Given the description of an element on the screen output the (x, y) to click on. 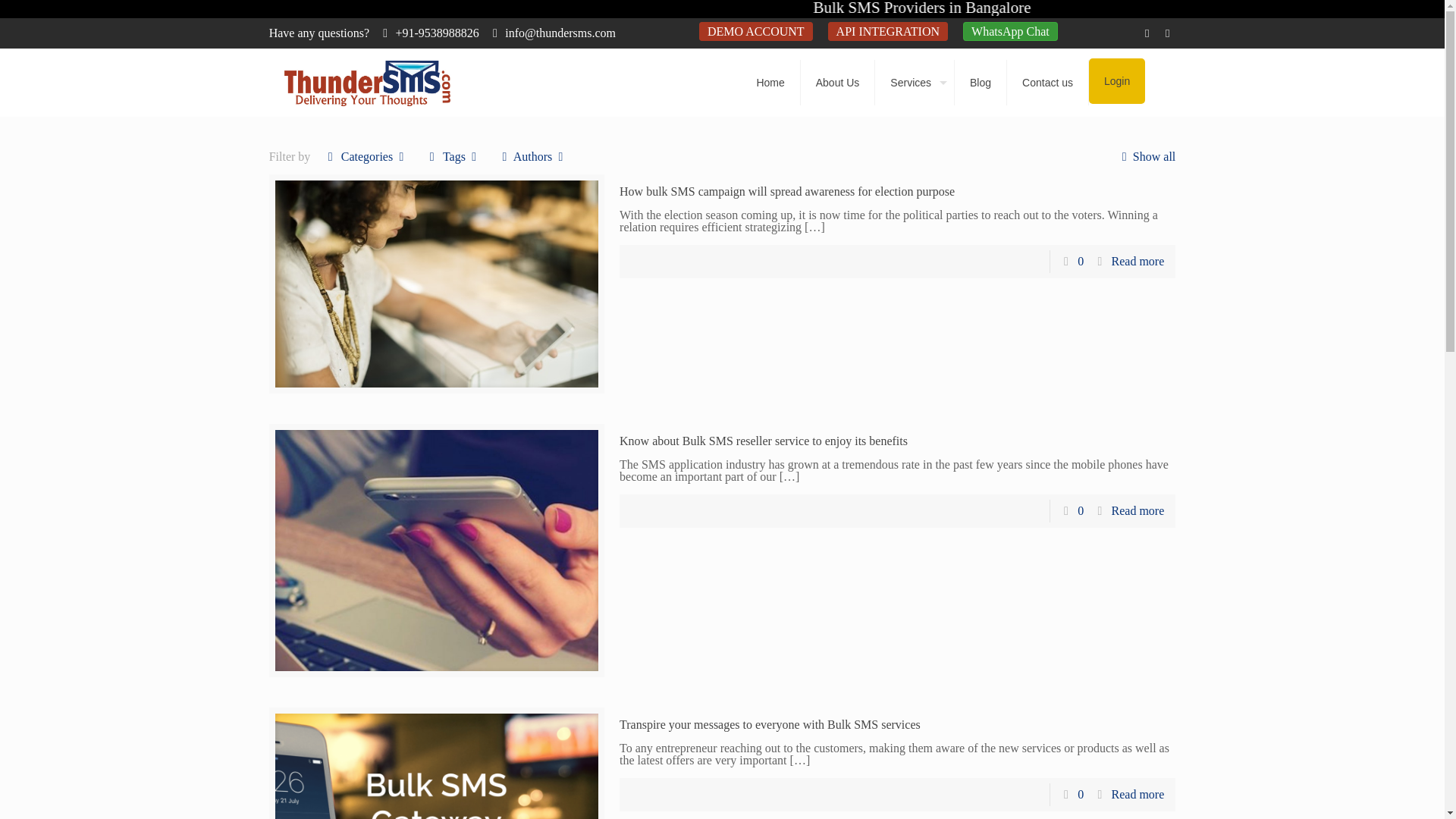
Home (770, 82)
Categories (366, 155)
Contact us (1048, 82)
Authors (532, 155)
Show all (1144, 155)
API INTEGRATION (887, 31)
Services (915, 82)
Facebook (1146, 33)
WhatsApp Chat (1010, 31)
Login (1116, 81)
Blog (981, 82)
About Us (838, 82)
Twitter (1166, 33)
DEMO ACCOUNT (755, 31)
Tags (453, 155)
